Given the description of an element on the screen output the (x, y) to click on. 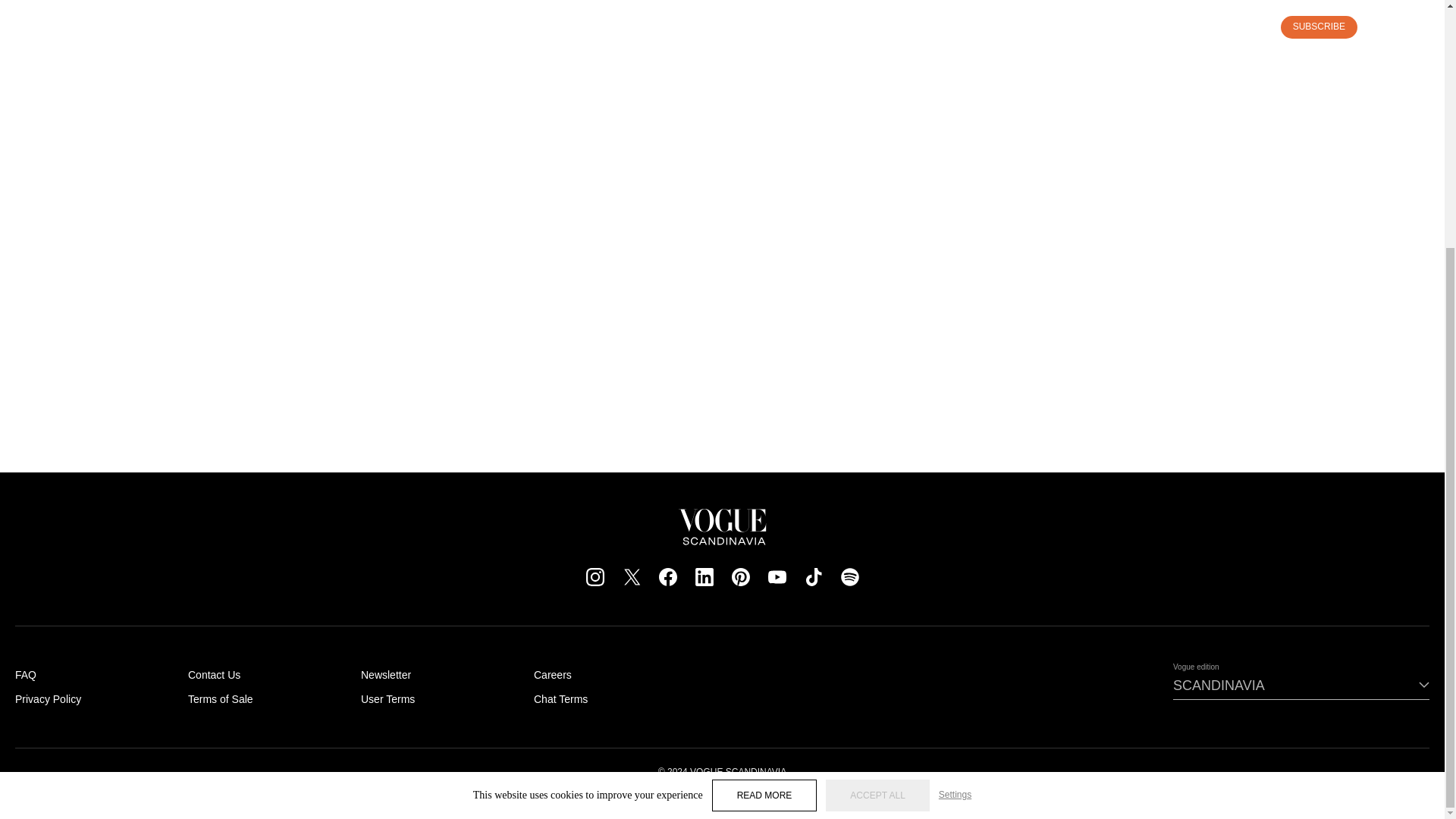
Terms of Sale (220, 698)
Contact Us (213, 674)
Settings (955, 449)
Chat Terms (561, 698)
ACCEPT ALL (876, 449)
Privacy Policy (47, 698)
FAQ (25, 674)
READ MORE (763, 449)
Newsletter (385, 674)
Careers (553, 674)
User Terms (387, 698)
